Given the description of an element on the screen output the (x, y) to click on. 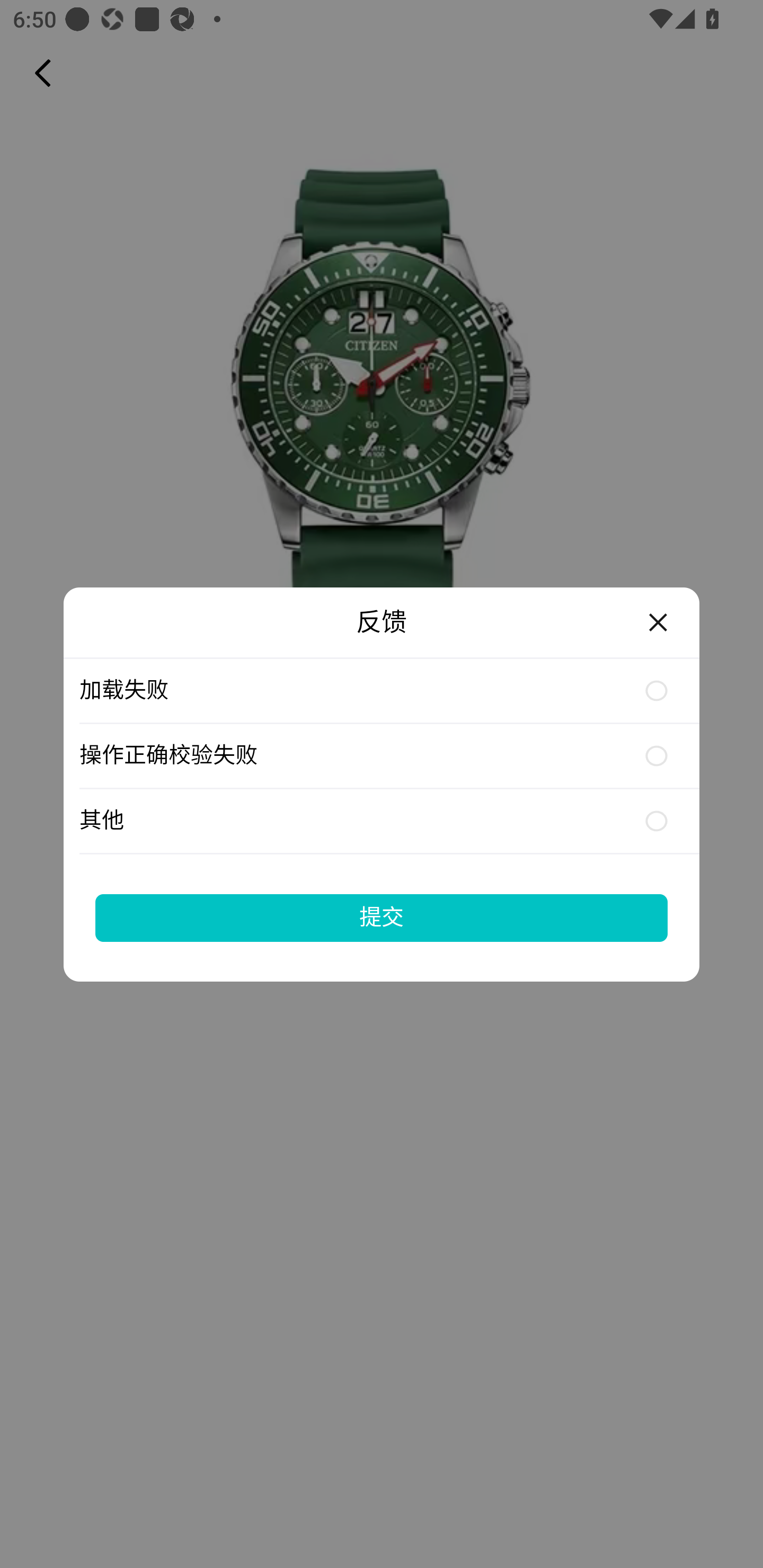
提交 (381, 917)
